Given the description of an element on the screen output the (x, y) to click on. 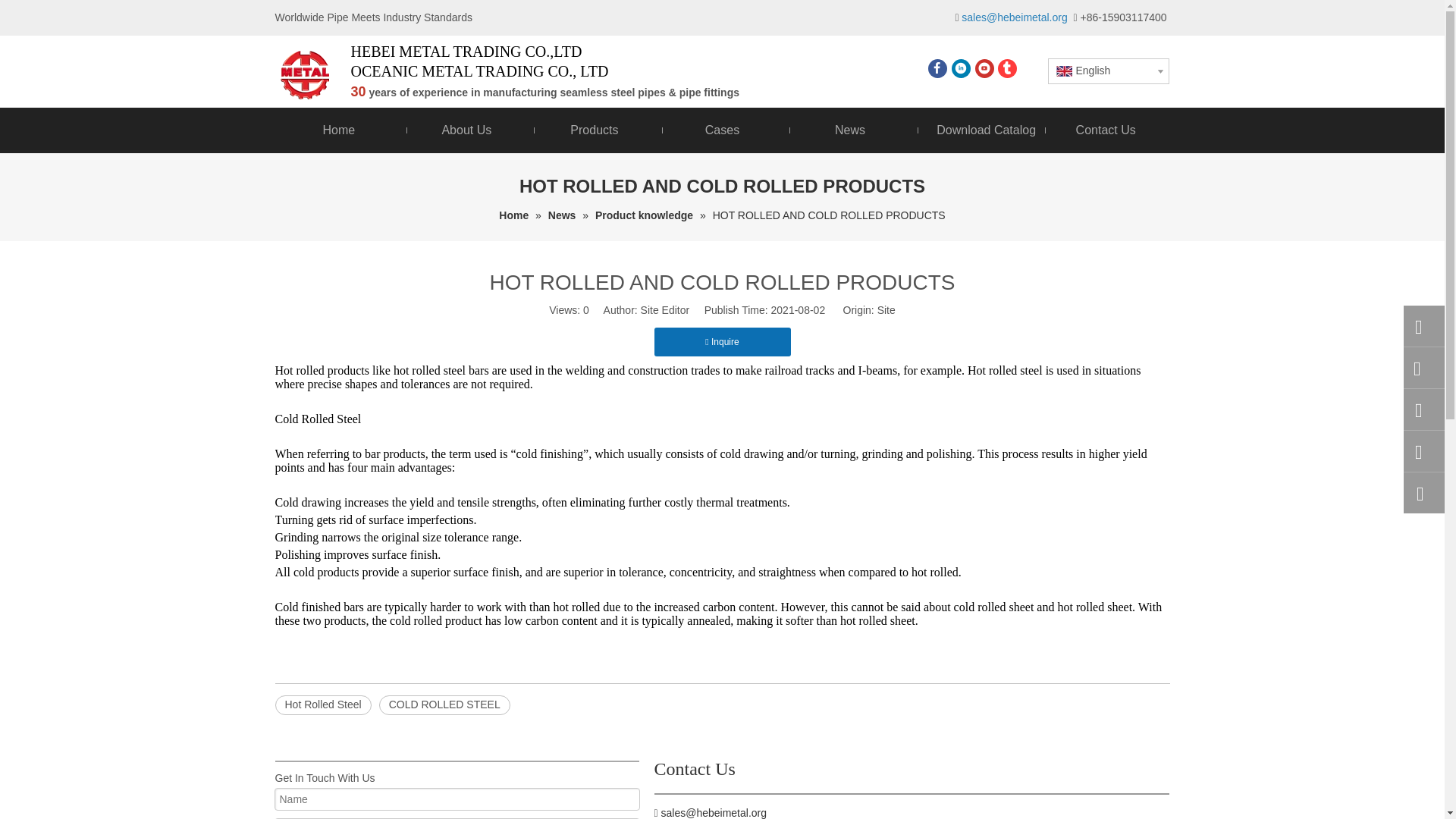
Facebook (937, 67)
Cases (722, 130)
COLD ROLLED STEEL (444, 704)
News (850, 130)
Hot Rolled Steel (323, 704)
Youtube (984, 67)
Download Catalog (978, 130)
Linkedin (961, 67)
Product knowledge (645, 215)
Products (595, 130)
About Us (467, 130)
Hebei Metal Trading CO.,LTD (305, 74)
tumblr (1006, 67)
Site (886, 309)
Inquire (721, 341)
